Given the description of an element on the screen output the (x, y) to click on. 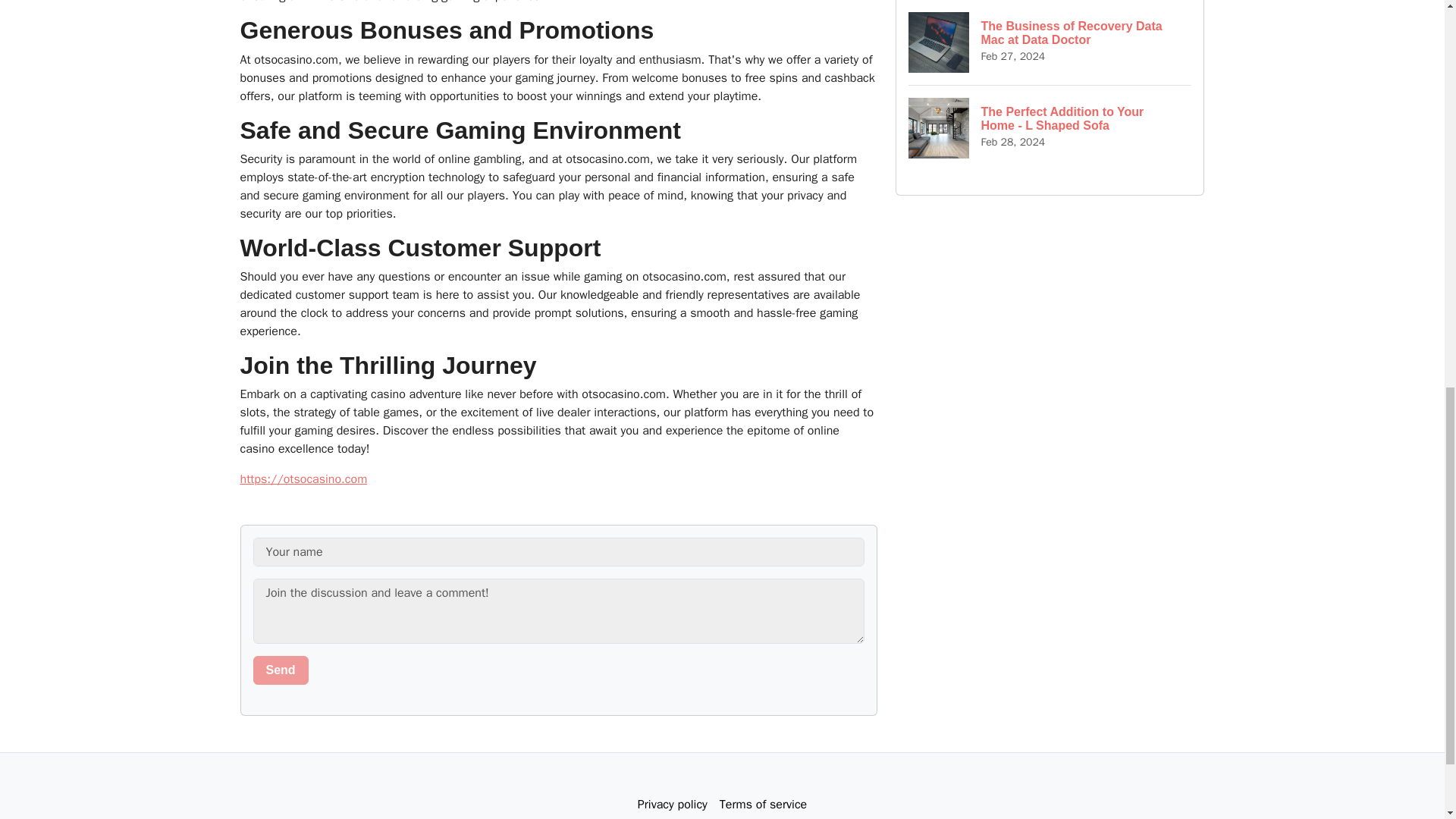
Privacy policy (672, 804)
Terms of service (762, 804)
Send (280, 670)
Send (280, 670)
